Given the description of an element on the screen output the (x, y) to click on. 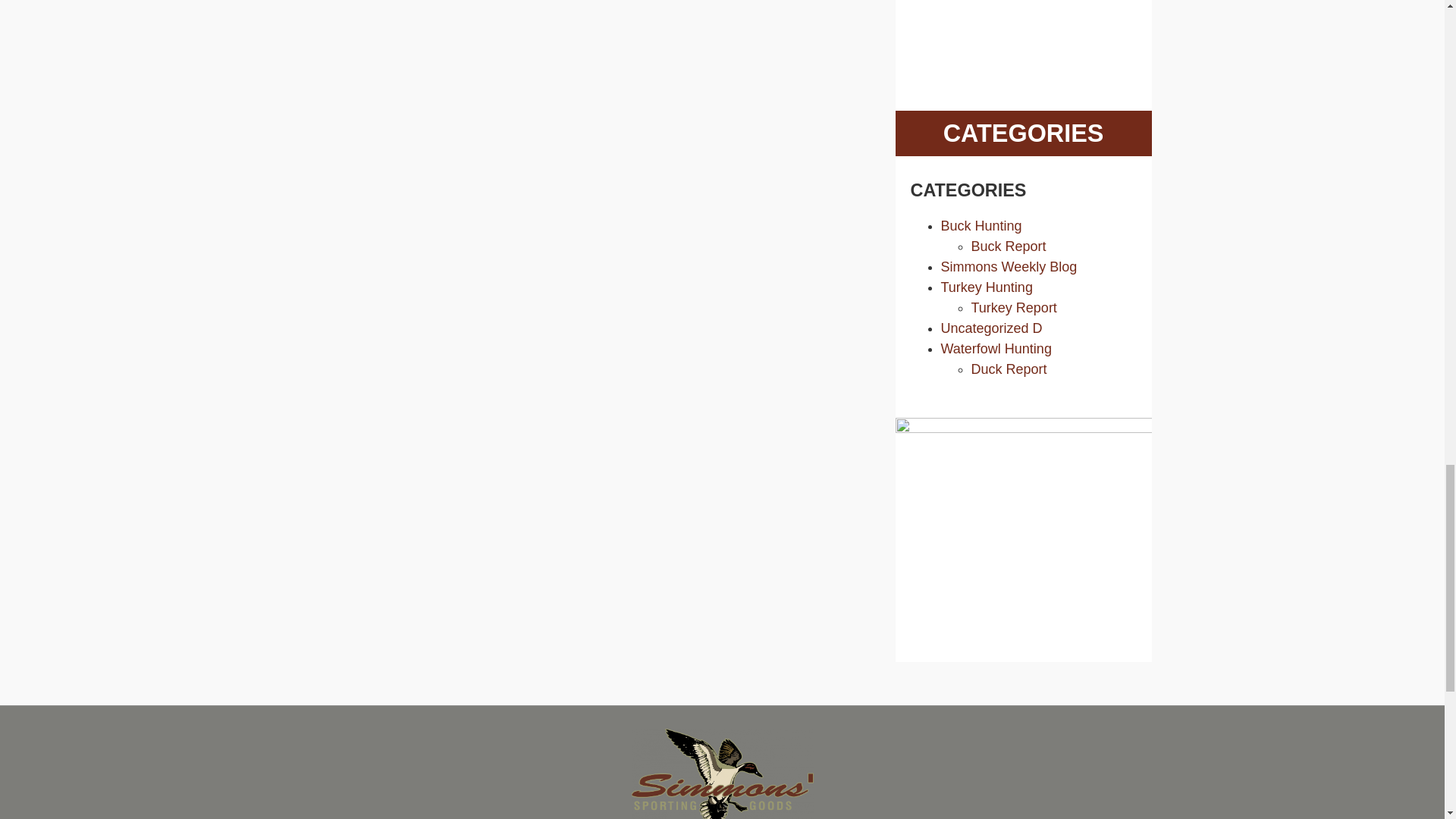
Simmons Weekly Blog (1008, 266)
Buck Hunting (981, 225)
Turkey Report (1014, 307)
Buck Report (1008, 246)
Uncategorized D (991, 328)
Turkey Hunting (986, 287)
